Given the description of an element on the screen output the (x, y) to click on. 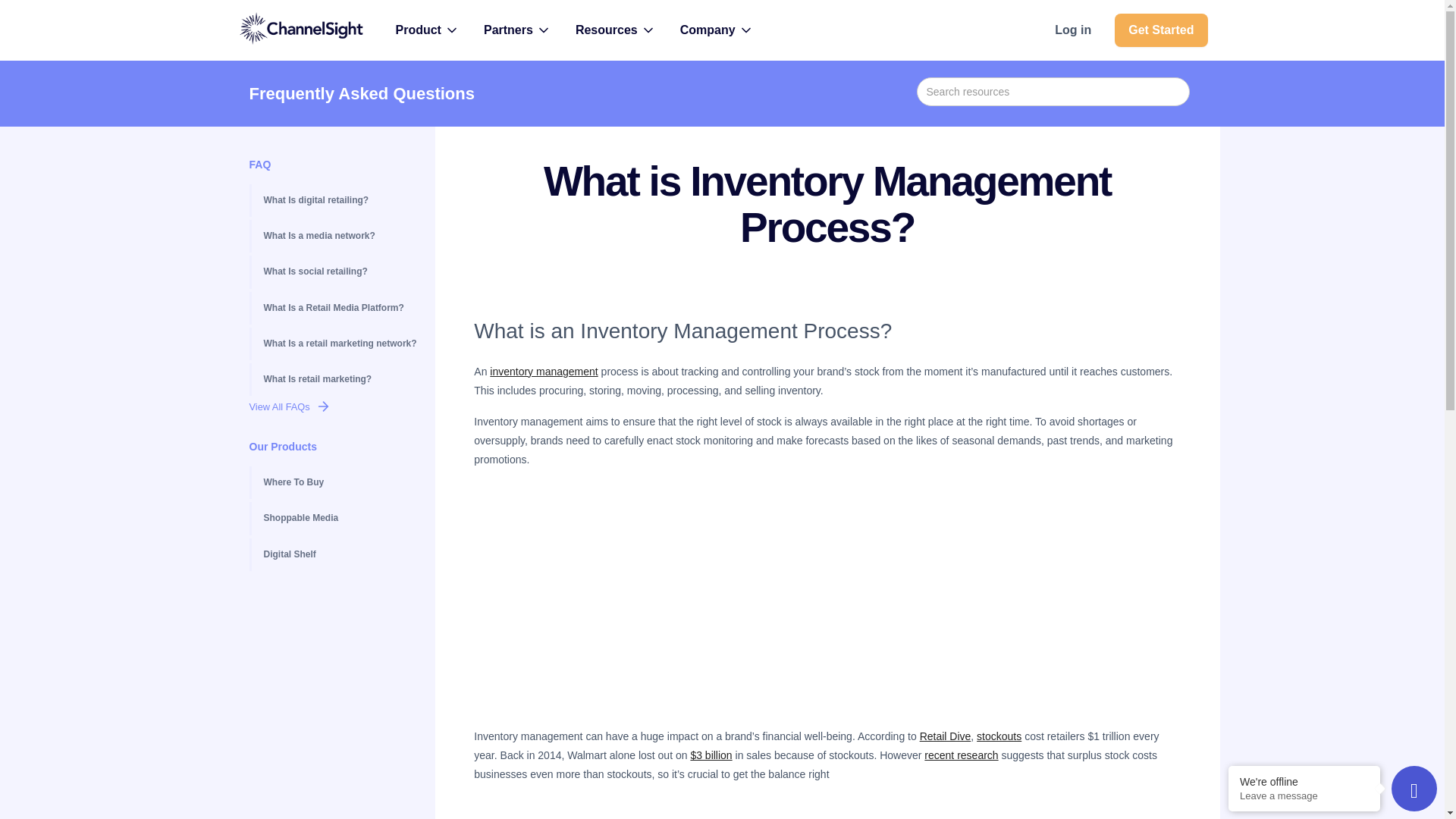
View All FAQs (338, 406)
What Is a media network? (338, 236)
Get Started (1161, 29)
What Is a retail marketing network? (338, 343)
Search (33, 16)
What Is digital retailing? (338, 200)
What is Inventory Management and Control? (827, 600)
Leave a message (1304, 795)
What Is retail marketing? (338, 379)
Digital Shelf (338, 554)
Retail Dive (945, 736)
What Is a Retail Media Platform? (338, 307)
We're offline (1304, 781)
Log in (1073, 29)
What Is social retailing? (338, 271)
